Given the description of an element on the screen output the (x, y) to click on. 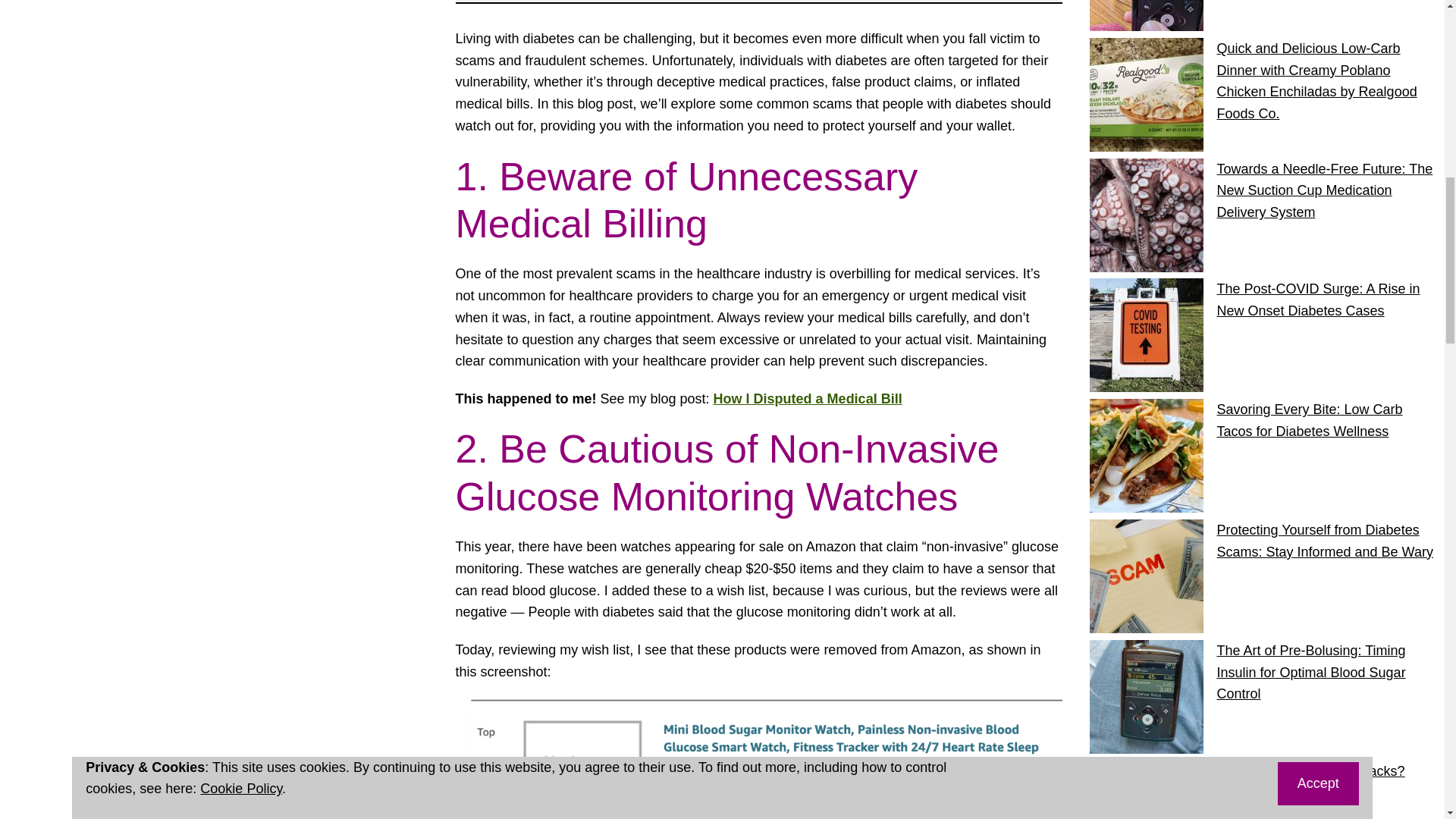
The Post-COVID Surge: A Rise in New Onset Diabetes Cases (1317, 299)
Savoring Every Bite: Low Carb Tacos for Diabetes Wellness (1308, 420)
How I Disputed a Medical Bill (807, 398)
